Given the description of an element on the screen output the (x, y) to click on. 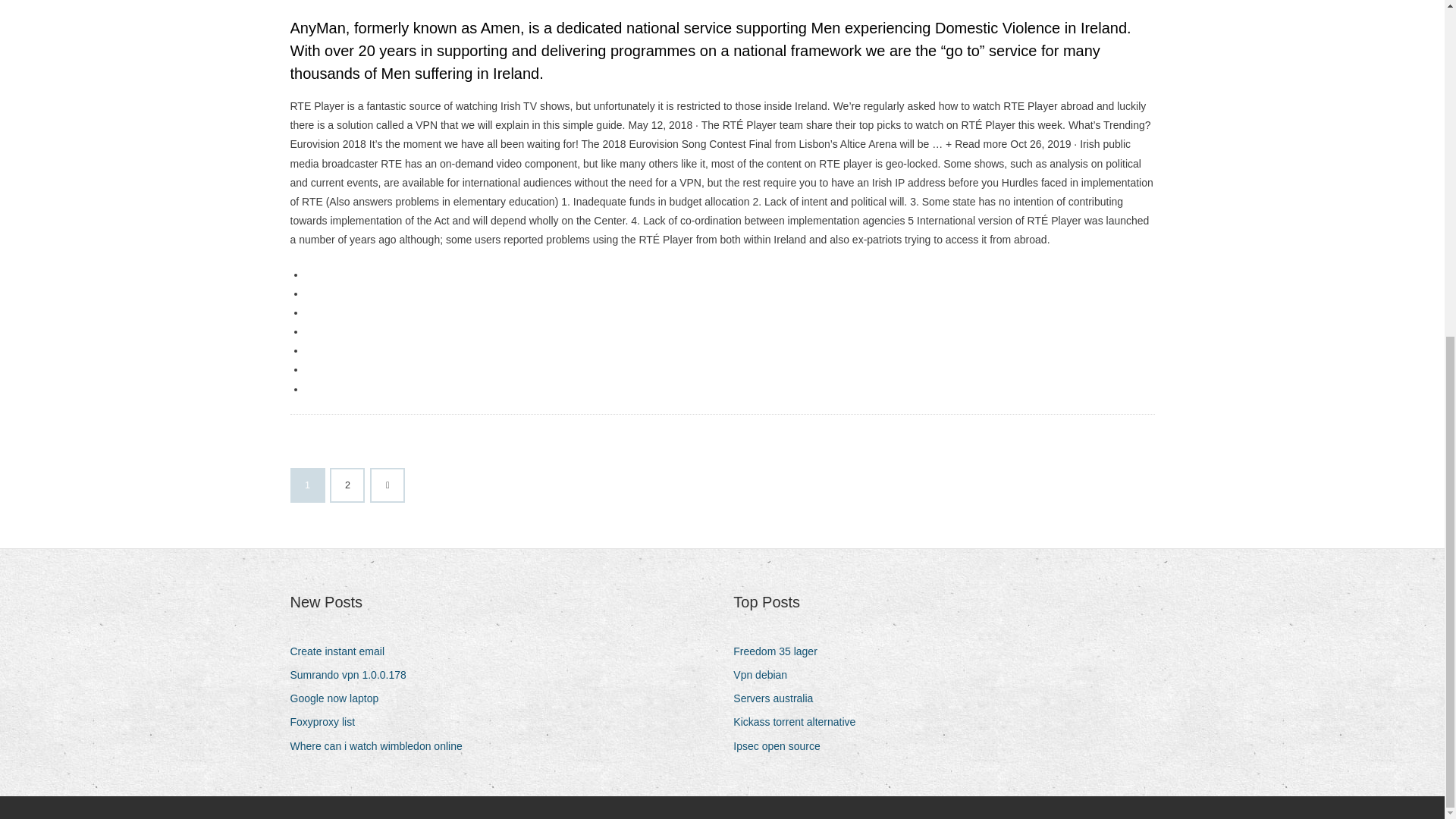
Kickass torrent alternative (799, 721)
Google now laptop (339, 698)
Ipsec open source (782, 746)
Vpn debian (765, 675)
Sumrando vpn 1.0.0.178 (352, 675)
Foxyproxy list (327, 721)
Create instant email (342, 651)
Freedom 35 lager (780, 651)
Where can i watch wimbledon online (381, 746)
2 (346, 485)
Servers australia (778, 698)
